Given the description of an element on the screen output the (x, y) to click on. 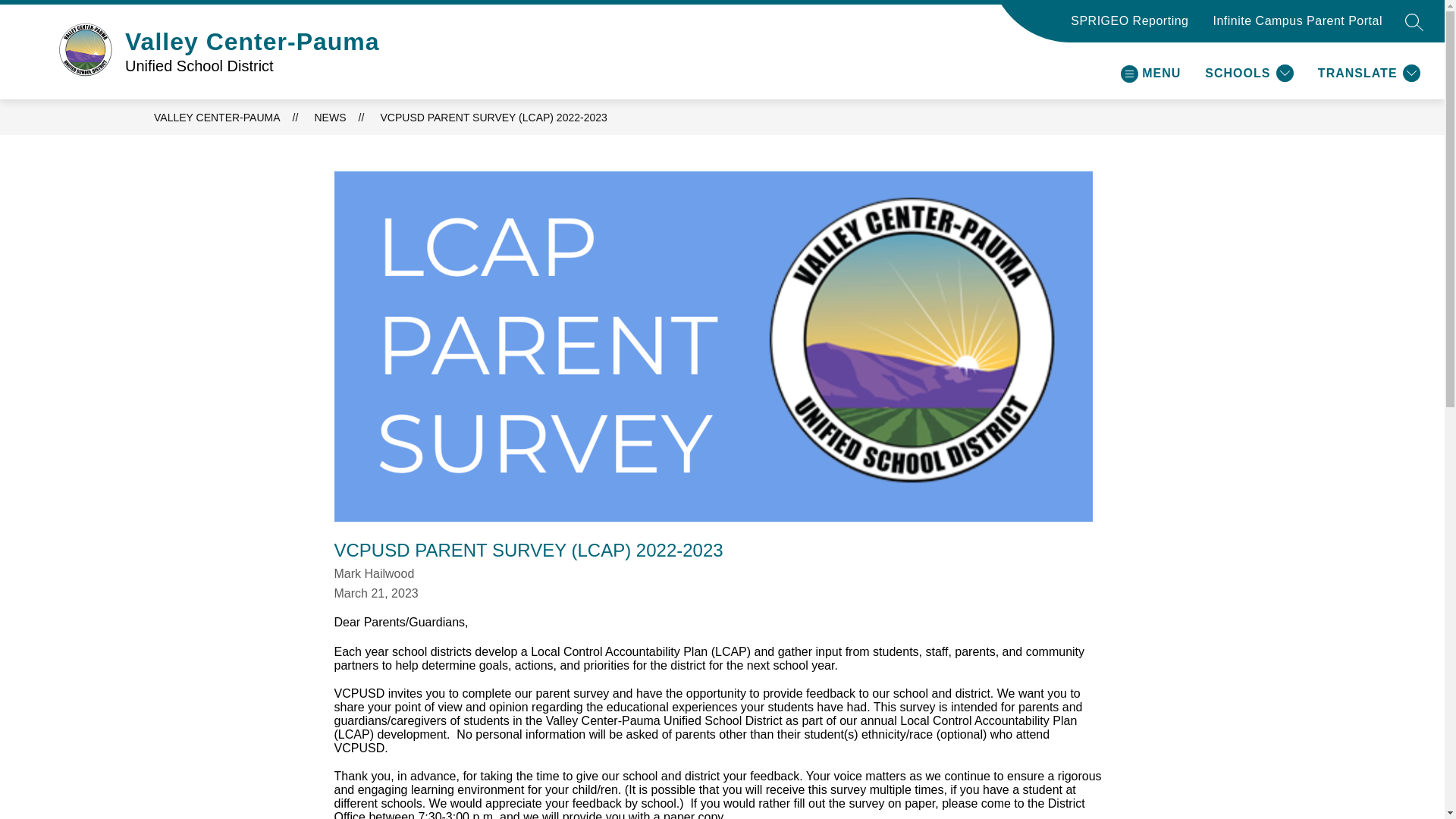
VALLEY CENTER-PAUMA (217, 117)
SCHOOLS (1249, 72)
MENU (1149, 72)
Infinite Campus Parent Portal (1297, 27)
NEWS (330, 117)
TRANSLATE (1369, 72)
SPRIGEO Reporting (1129, 27)
